Given the description of an element on the screen output the (x, y) to click on. 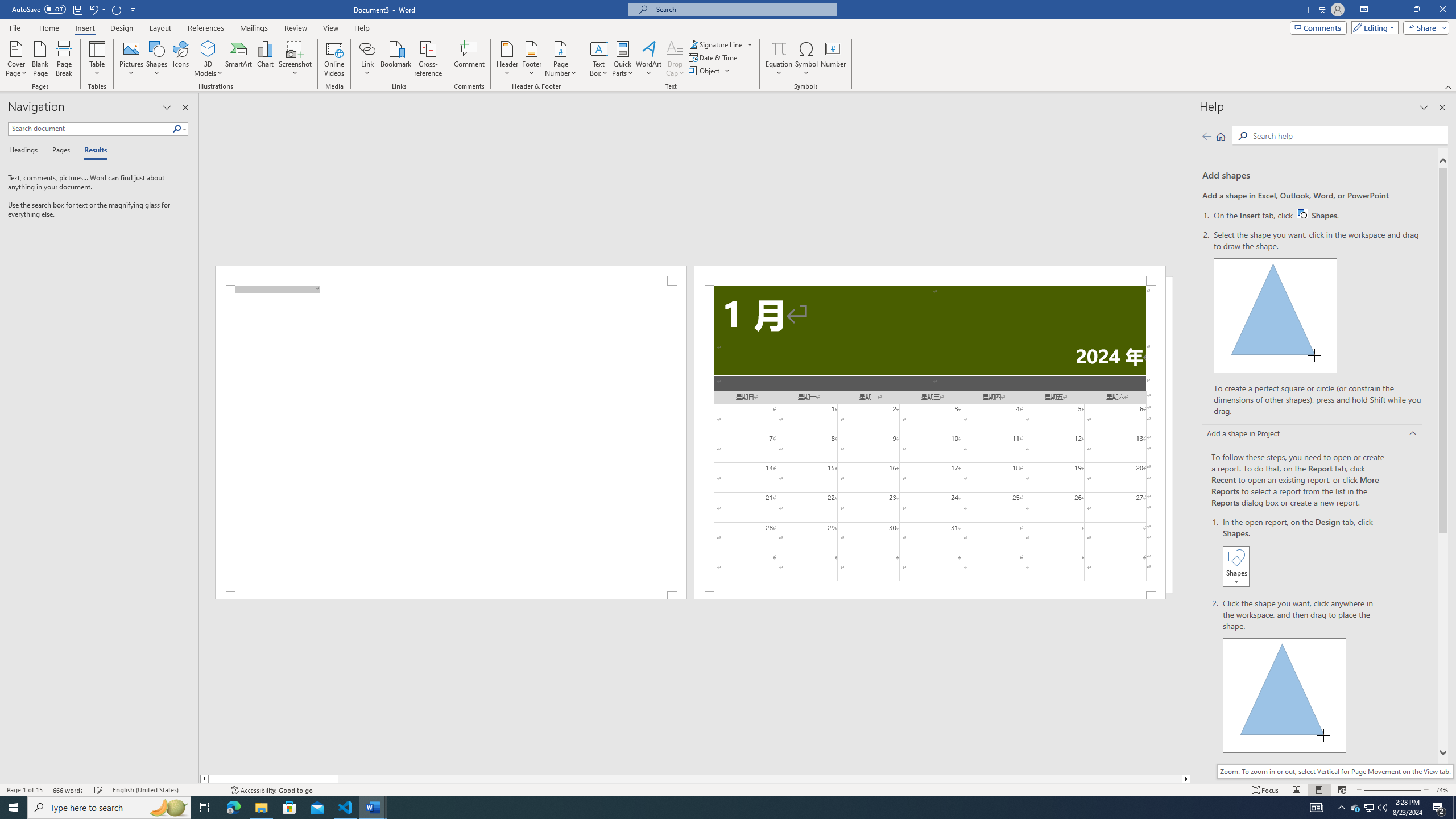
Date & Time... (714, 56)
Cover Page (16, 58)
Shapes (156, 58)
Page Number Page 1 of 15 (24, 790)
Drop Cap (674, 58)
Signature Line (716, 44)
Word Count 666 words (68, 790)
Quick Parts (622, 58)
